Given the description of an element on the screen output the (x, y) to click on. 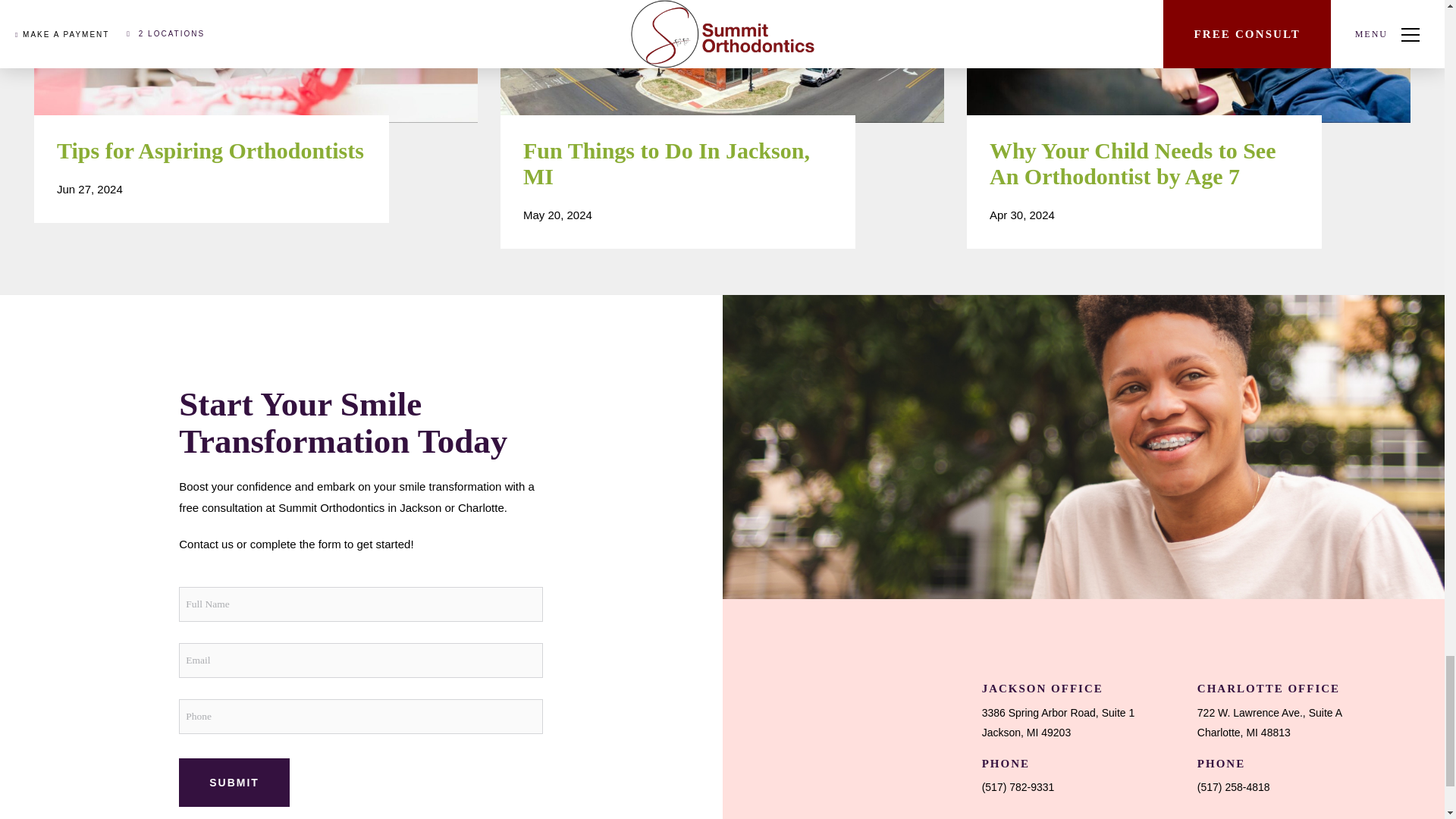
Fun Things to Do In Jackson, MI (677, 163)
Why Your Child Needs to See An Orthodontist by Age 7 (1144, 163)
Fun Things to Do In Jackson, MI (721, 76)
Tips for Aspiring Orthodontists (255, 76)
Tips for Aspiring Orthodontists (211, 150)
Why Your Child Needs to See An Orthodontist by Age 7 (1188, 76)
Submit (234, 782)
